Given the description of an element on the screen output the (x, y) to click on. 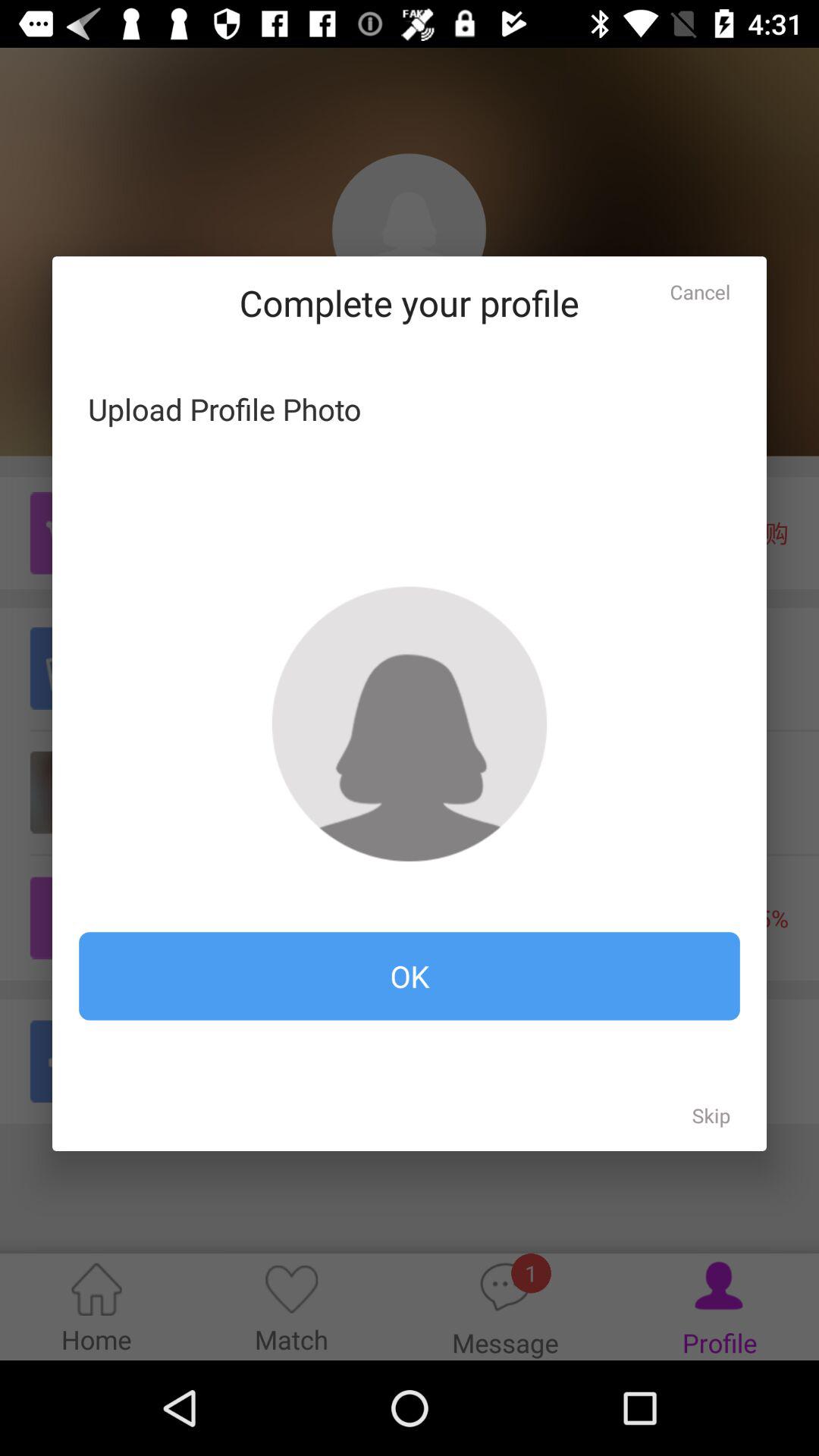
jump to ok icon (409, 976)
